Given the description of an element on the screen output the (x, y) to click on. 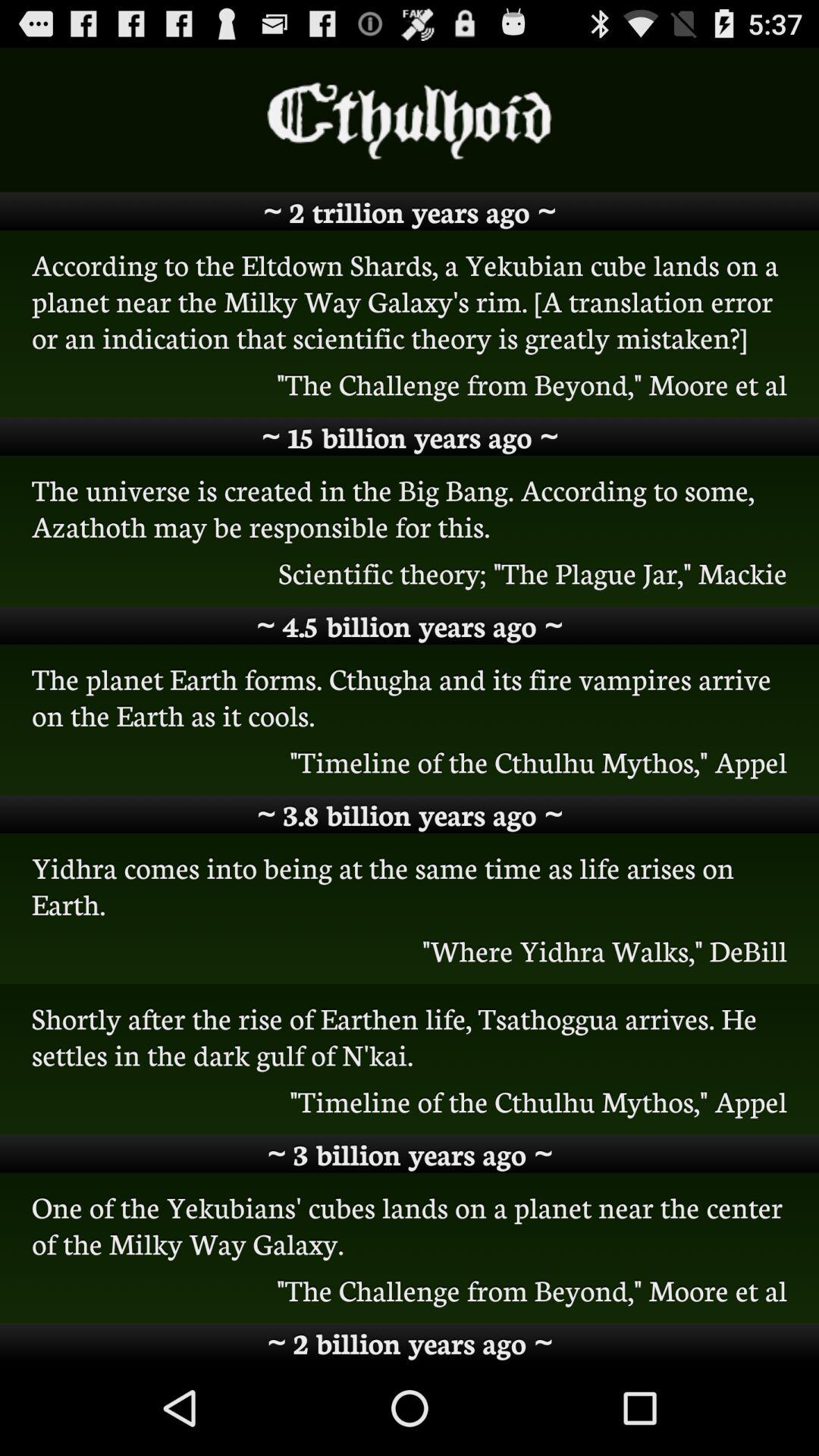
jump until the scientific theory the (409, 572)
